Given the description of an element on the screen output the (x, y) to click on. 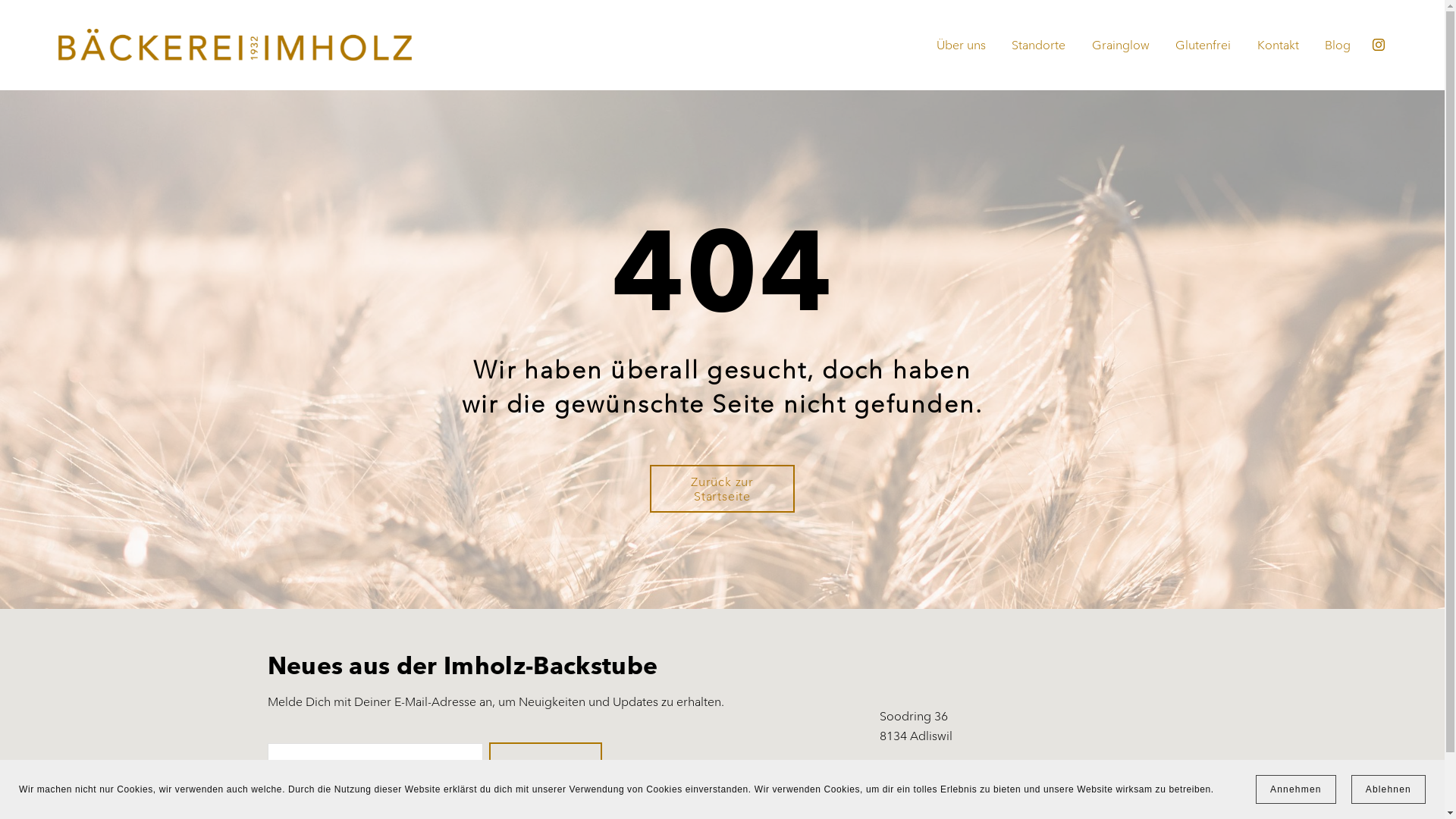
Blog Element type: text (1337, 45)
Glutenfrei Element type: text (1202, 45)
Kontakt Element type: text (1278, 45)
Annehmen Element type: text (1295, 789)
Anmelden Element type: text (545, 767)
Grainglow Element type: text (1120, 45)
Ablehnen Element type: text (1388, 789)
Standorte Element type: text (1038, 45)
